Given the description of an element on the screen output the (x, y) to click on. 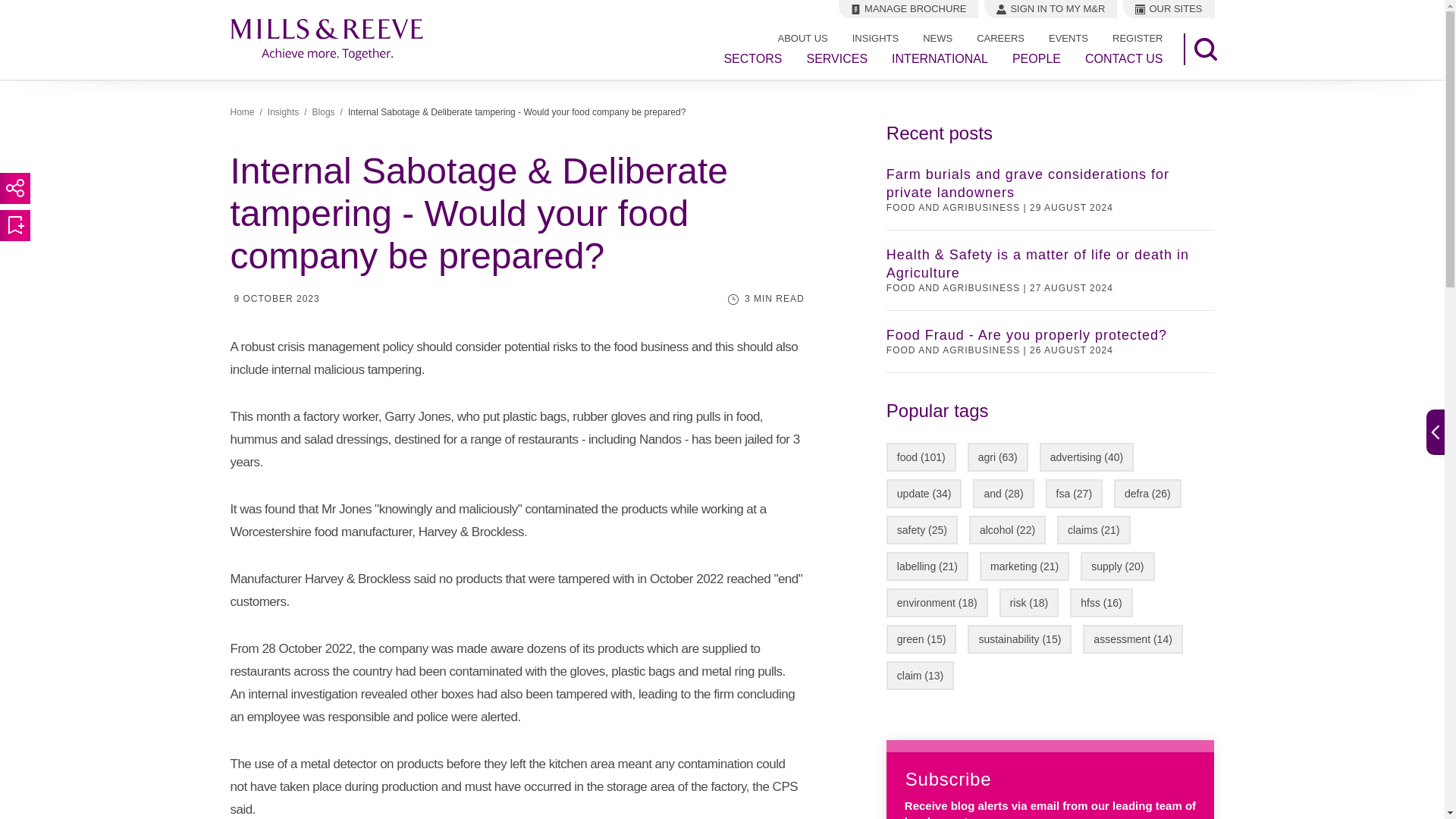
Blogs (323, 112)
MANAGE BROCHURE (908, 9)
REGISTER (1137, 37)
INSIGHTS (875, 37)
EVENTS (1068, 37)
CAREERS (999, 37)
OUR SITES (1168, 9)
PEOPLE (1036, 58)
SERVICES (836, 58)
Insights (282, 112)
